Given the description of an element on the screen output the (x, y) to click on. 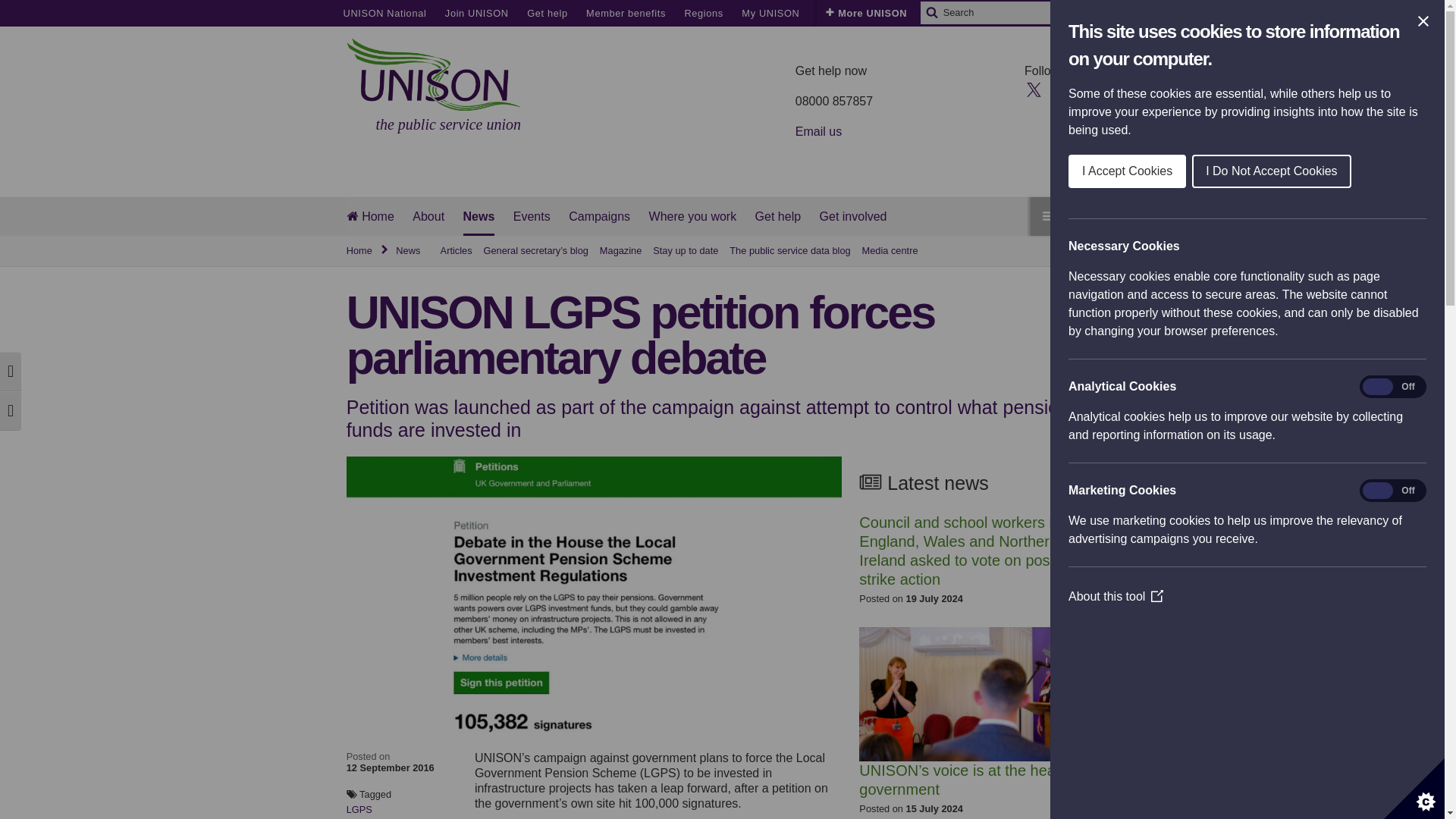
Regions (703, 13)
My UNISON (770, 13)
Facebook (1060, 88)
More UNISON (865, 13)
the public service union (433, 85)
Member benefits (625, 13)
I Accept Cookies (1432, 171)
Join UNISON (476, 13)
